Given the description of an element on the screen output the (x, y) to click on. 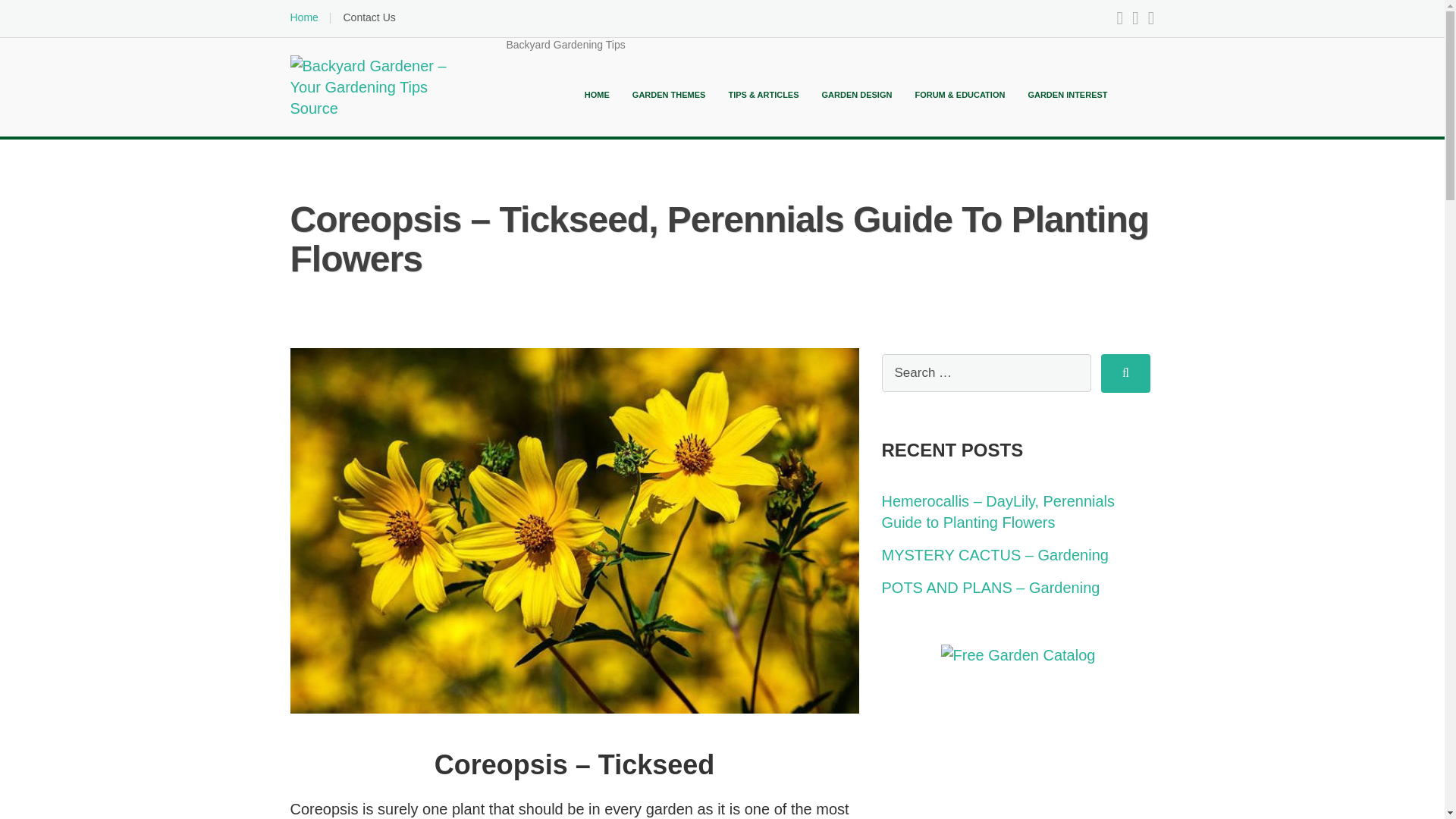
GARDEN DESIGN (857, 94)
Search for: (985, 372)
HOME (597, 94)
Home (303, 17)
Contact Us (368, 17)
GARDEN THEMES (668, 94)
